Given the description of an element on the screen output the (x, y) to click on. 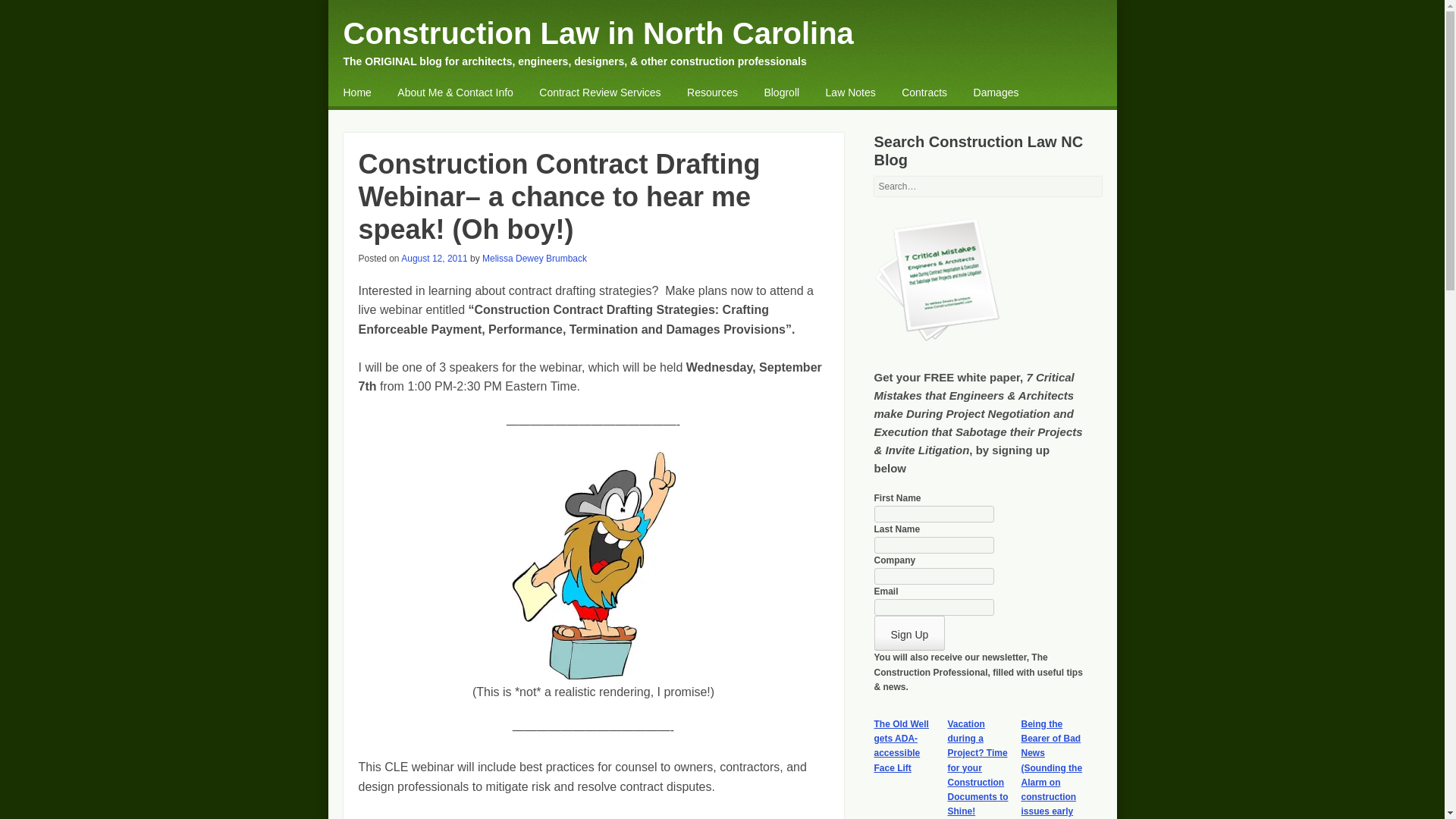
August 12, 2011 (434, 258)
Law Notes (850, 92)
Melissa Dewey Brumback (533, 258)
View all posts by Melissa Dewey Brumback (533, 258)
Blogroll (780, 92)
Skip to content (382, 94)
Contracts (924, 92)
5:47 am (434, 258)
Resources (712, 92)
Construction Law in North Carolina (597, 32)
Home (356, 92)
Construction Law in North Carolina (597, 32)
Damages (996, 92)
Sign Up (908, 632)
Skip to content (382, 94)
